Given the description of an element on the screen output the (x, y) to click on. 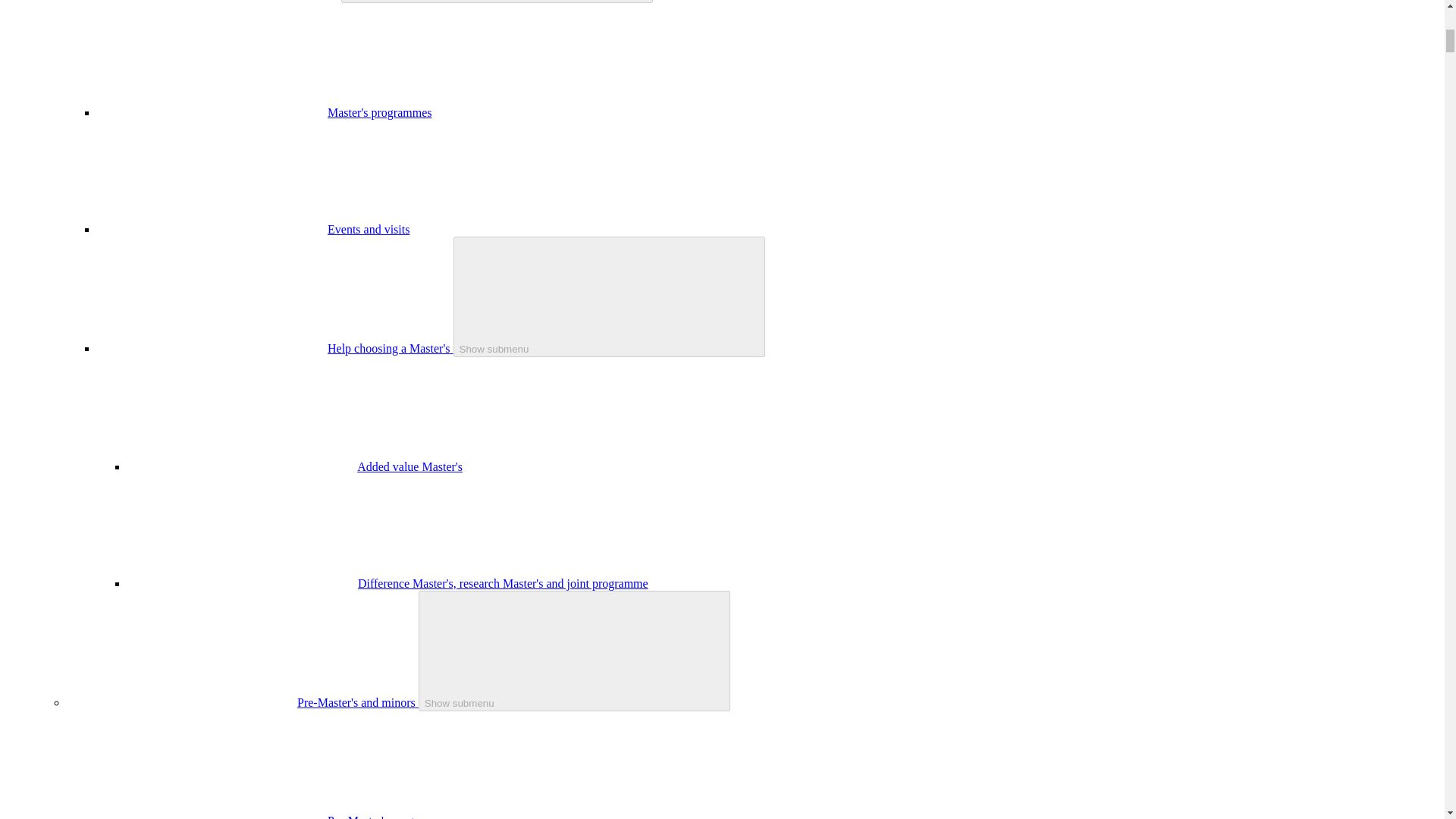
Events and visits (368, 228)
Difference Master's, research Master's and joint programme (502, 583)
Master's (318, 0)
Show submenu (574, 650)
Help choosing a Master's (389, 348)
Pre-Master's and minors (358, 702)
Show submenu (608, 296)
Master's programmes (379, 112)
Added value Master's (409, 466)
